Given the description of an element on the screen output the (x, y) to click on. 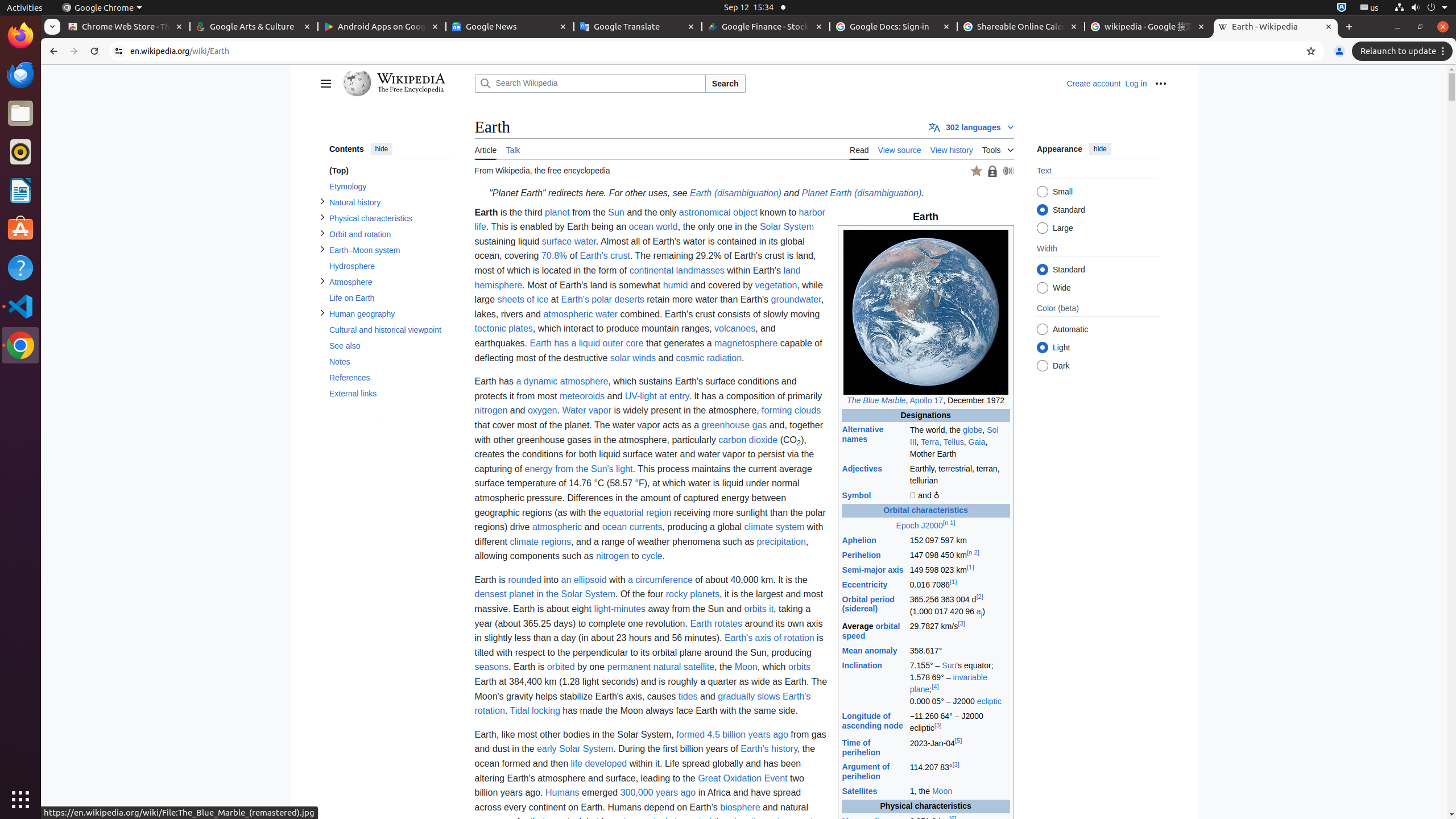
Perihelion Element type: link (860, 554)
Personal tools Element type: push-button (1160, 83)
LibreOffice Writer Element type: push-button (20, 190)
atmospheric Element type: link (556, 527)
[n 1] Element type: link (948, 522)
